Given the description of an element on the screen output the (x, y) to click on. 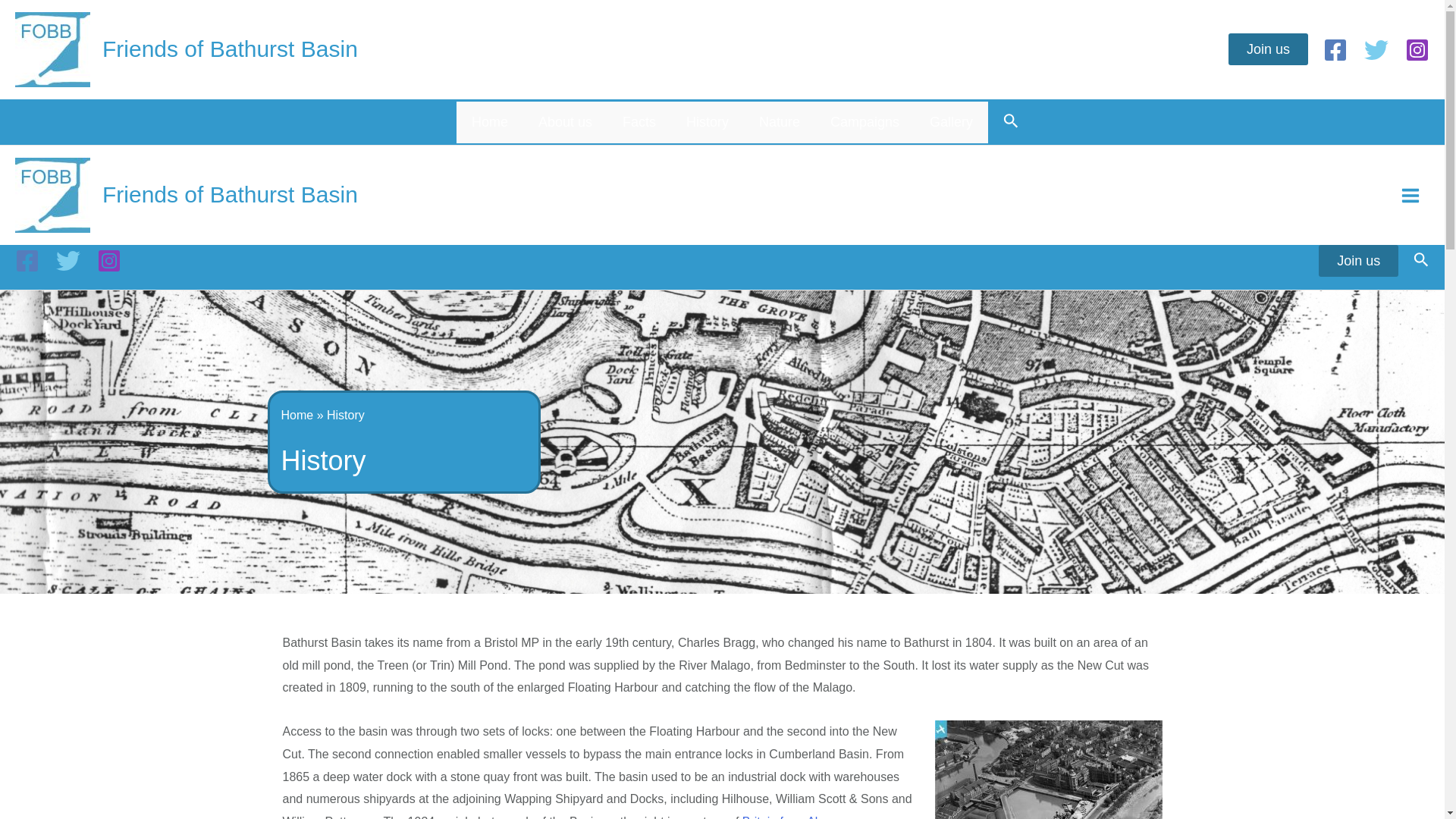
Gallery (951, 122)
Join us (1267, 49)
Facts (639, 122)
Home (489, 122)
Campaigns (864, 122)
Nature (779, 122)
Home (297, 414)
History (707, 122)
Friends of Bathurst Basin (229, 194)
Friends of Bathurst Basin (229, 48)
Britain from Above. (793, 816)
Join us (1358, 260)
Main Menu (1410, 194)
About us (564, 122)
